Given the description of an element on the screen output the (x, y) to click on. 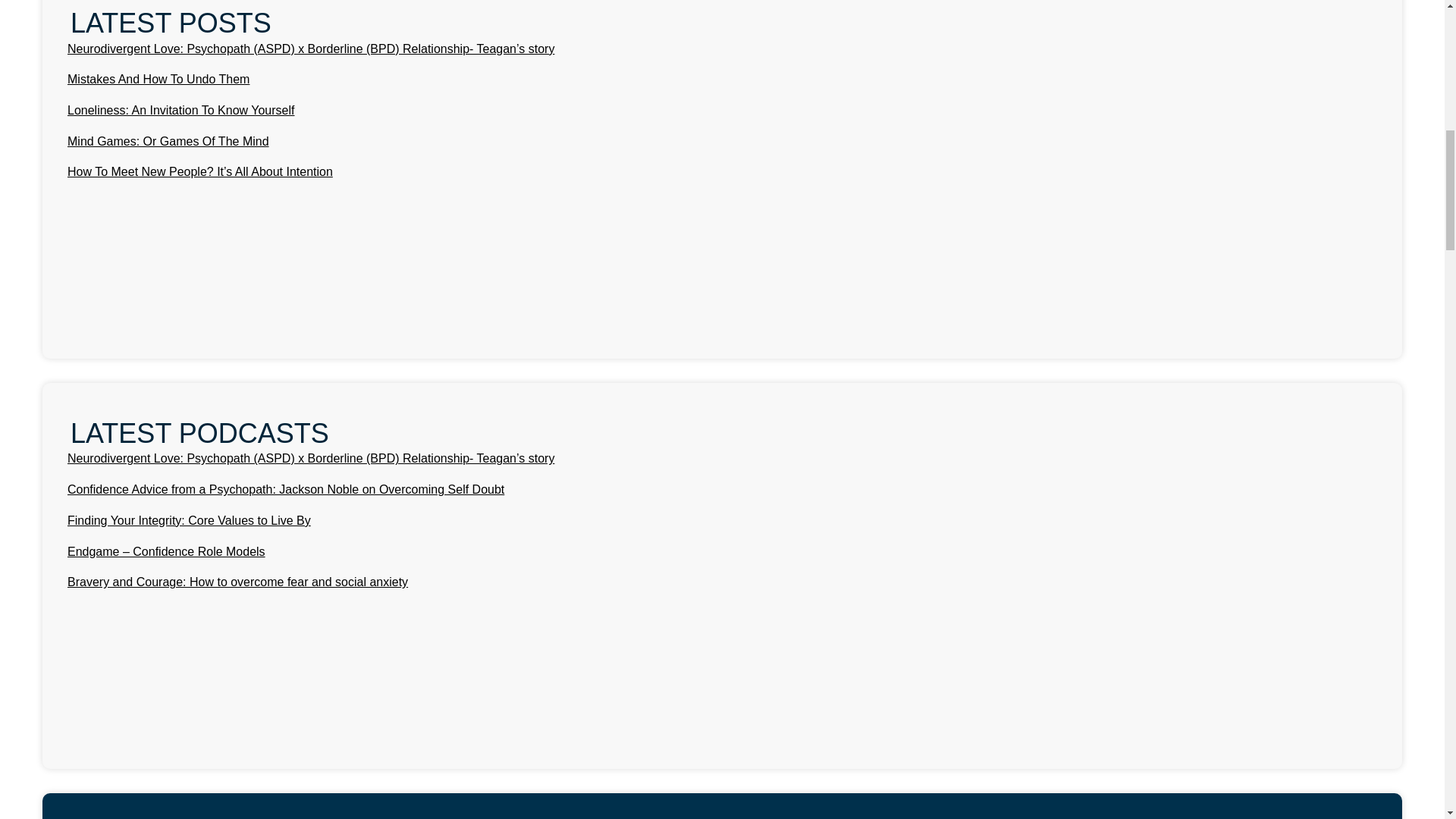
Finding Your Integrity: Core Values to Live By (188, 520)
Mind Games: Or Games Of The Mind (167, 141)
Mistakes And How To Undo Them (157, 78)
Bravery and Courage: How to overcome fear and social anxiety (236, 581)
Loneliness: An Invitation To Know Yourself (180, 110)
